Given the description of an element on the screen output the (x, y) to click on. 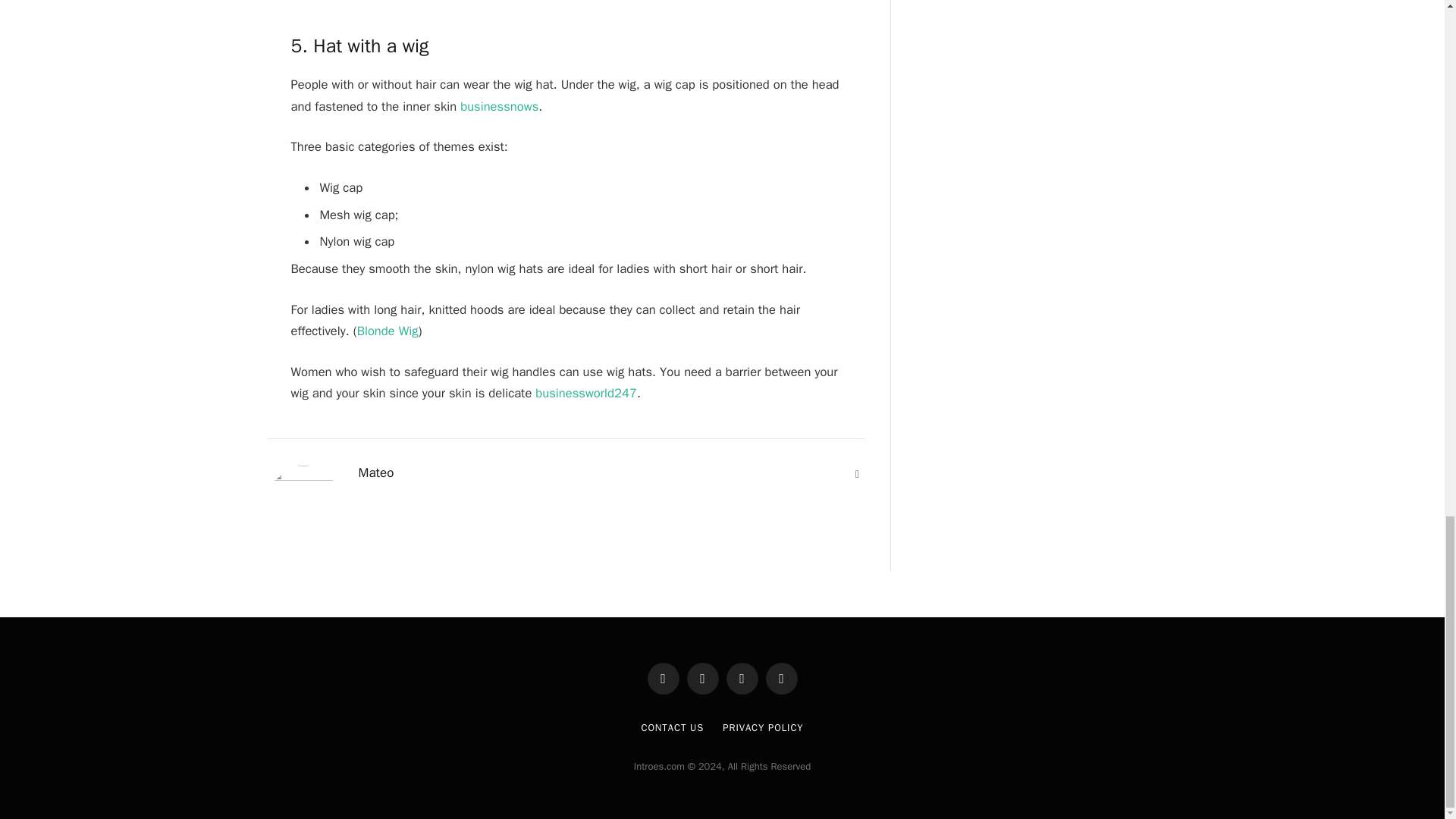
Blonde Wig (387, 330)
Website (856, 474)
Posts by Mateo (375, 473)
businessnows (499, 106)
businessworld247 (586, 392)
Mateo (375, 473)
Website (856, 474)
